Given the description of an element on the screen output the (x, y) to click on. 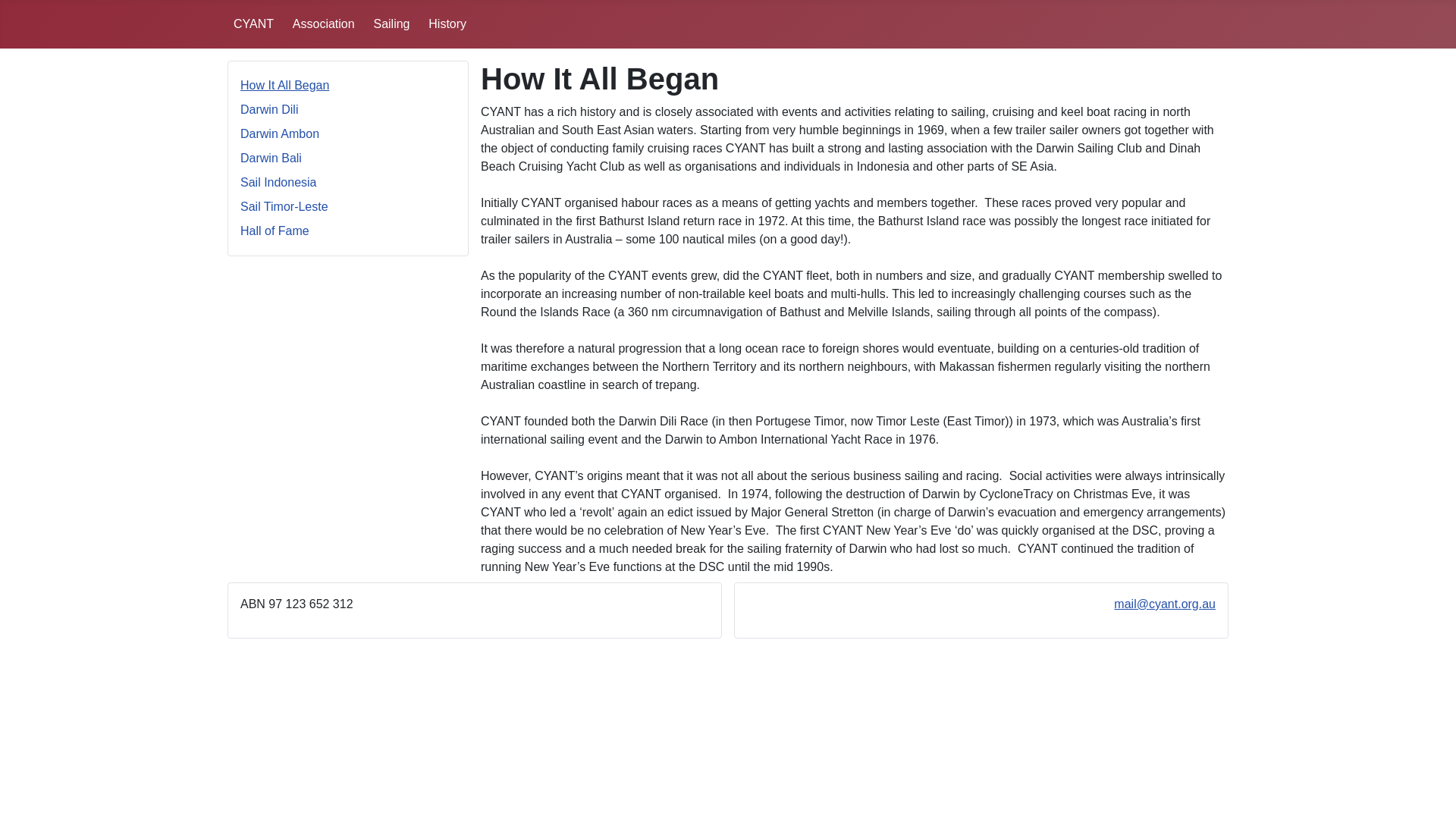
History Element type: text (447, 23)
Darwin Ambon Element type: text (279, 133)
Association Element type: text (323, 23)
Hall of Fame Element type: text (274, 230)
Darwin Bali Element type: text (270, 157)
Sail Timor-Leste Element type: text (284, 206)
mail@cyant.org.au Element type: text (1164, 603)
Sail Indonesia Element type: text (278, 181)
How It All Began Element type: text (284, 84)
CYANT Element type: text (253, 23)
Sailing Element type: text (391, 23)
Darwin Dili Element type: text (269, 109)
